Given the description of an element on the screen output the (x, y) to click on. 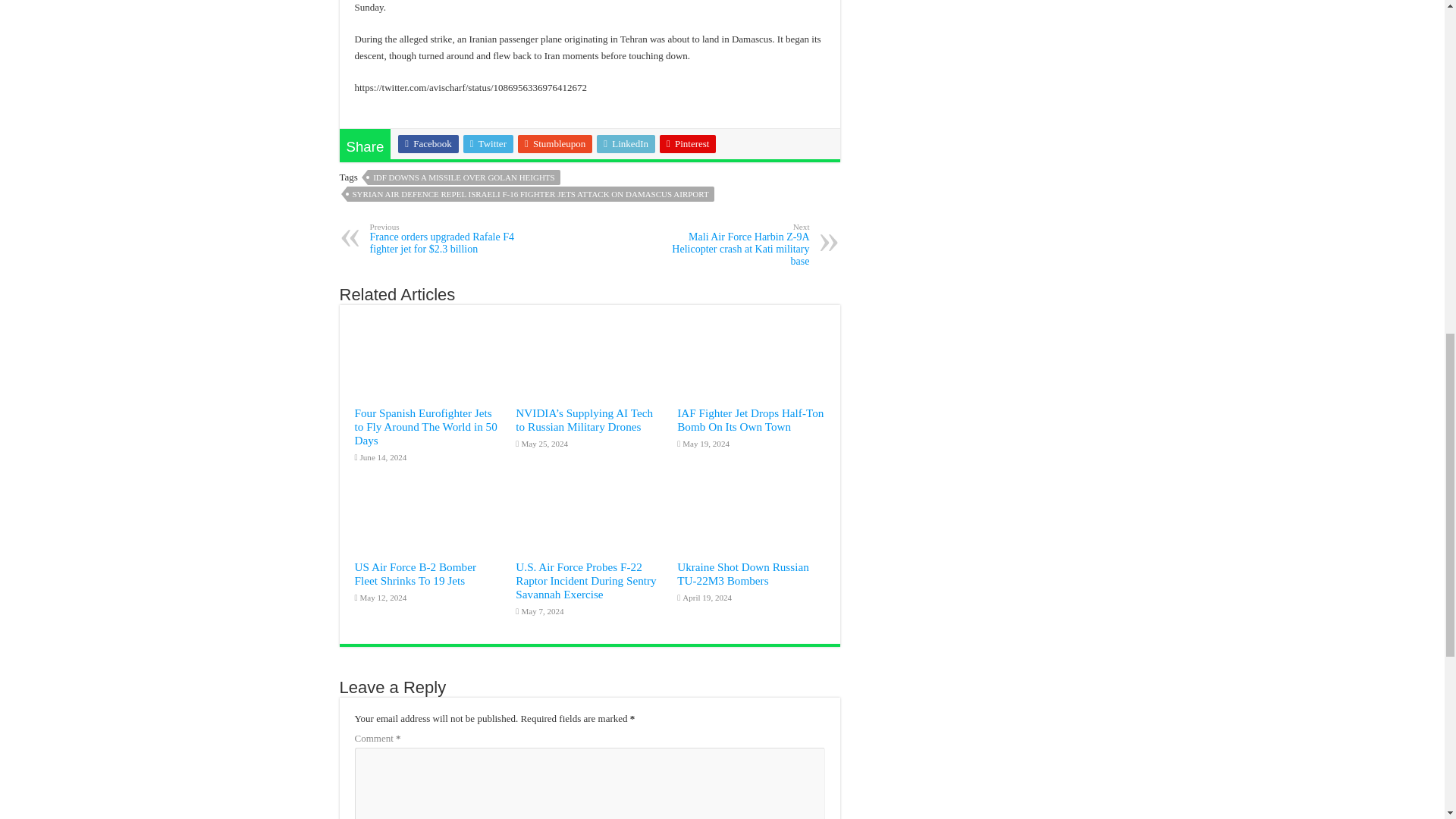
Twitter (488, 144)
Facebook (427, 144)
Stumbleupon (555, 144)
